Given the description of an element on the screen output the (x, y) to click on. 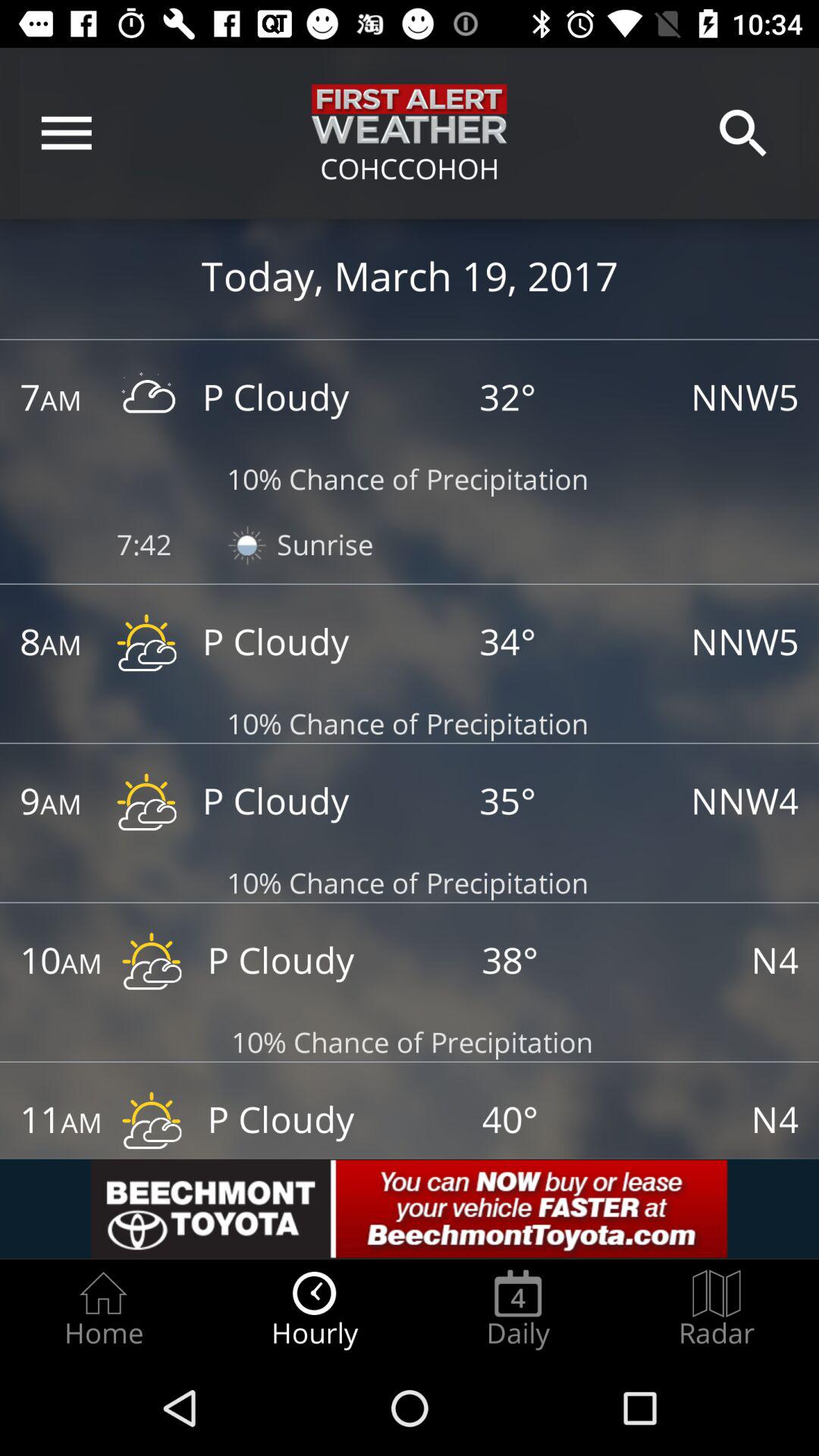
expand time (44, 1122)
